Given the description of an element on the screen output the (x, y) to click on. 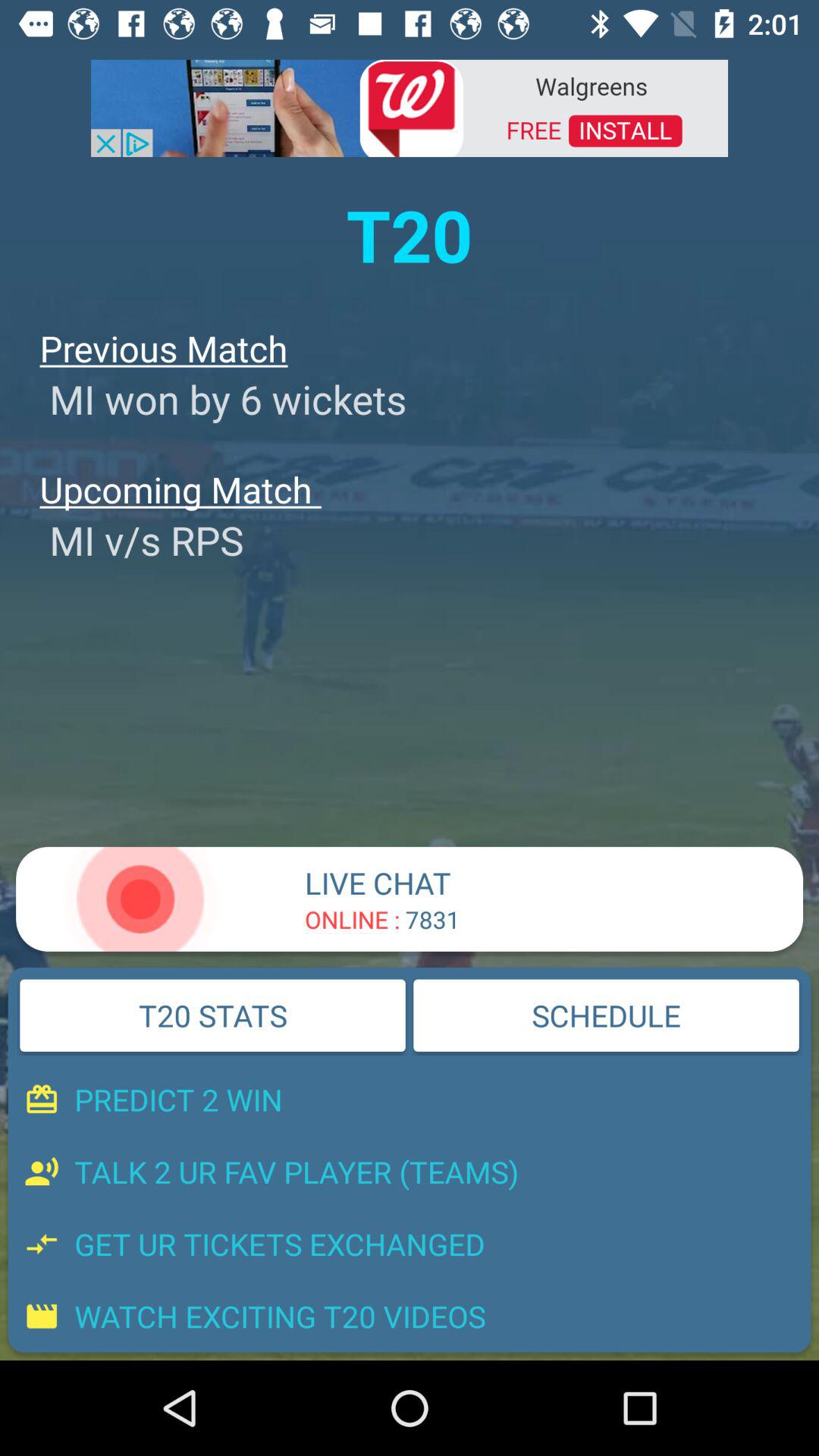
advertisement page (409, 106)
